Given the description of an element on the screen output the (x, y) to click on. 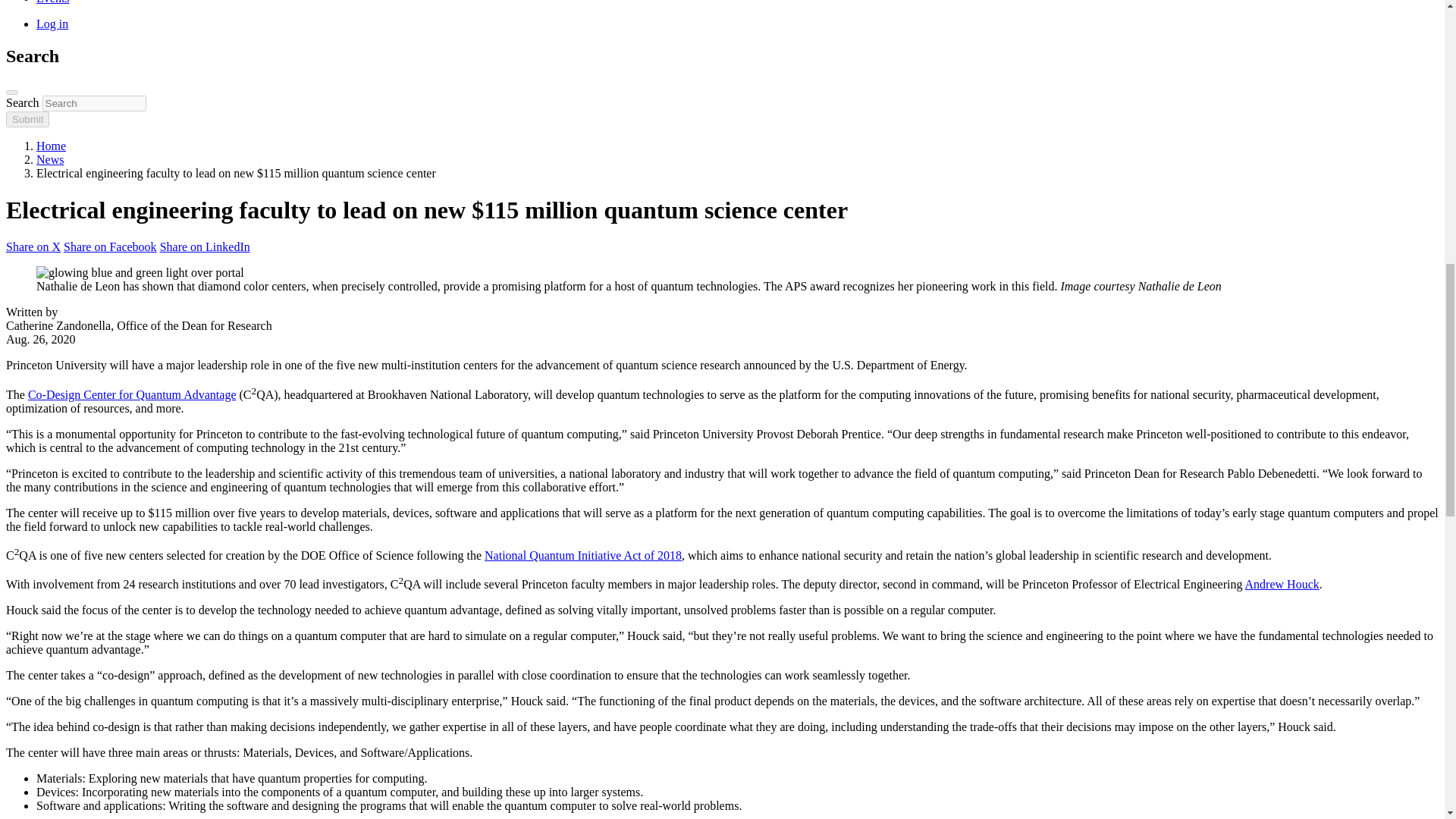
Submit (27, 118)
